Given the description of an element on the screen output the (x, y) to click on. 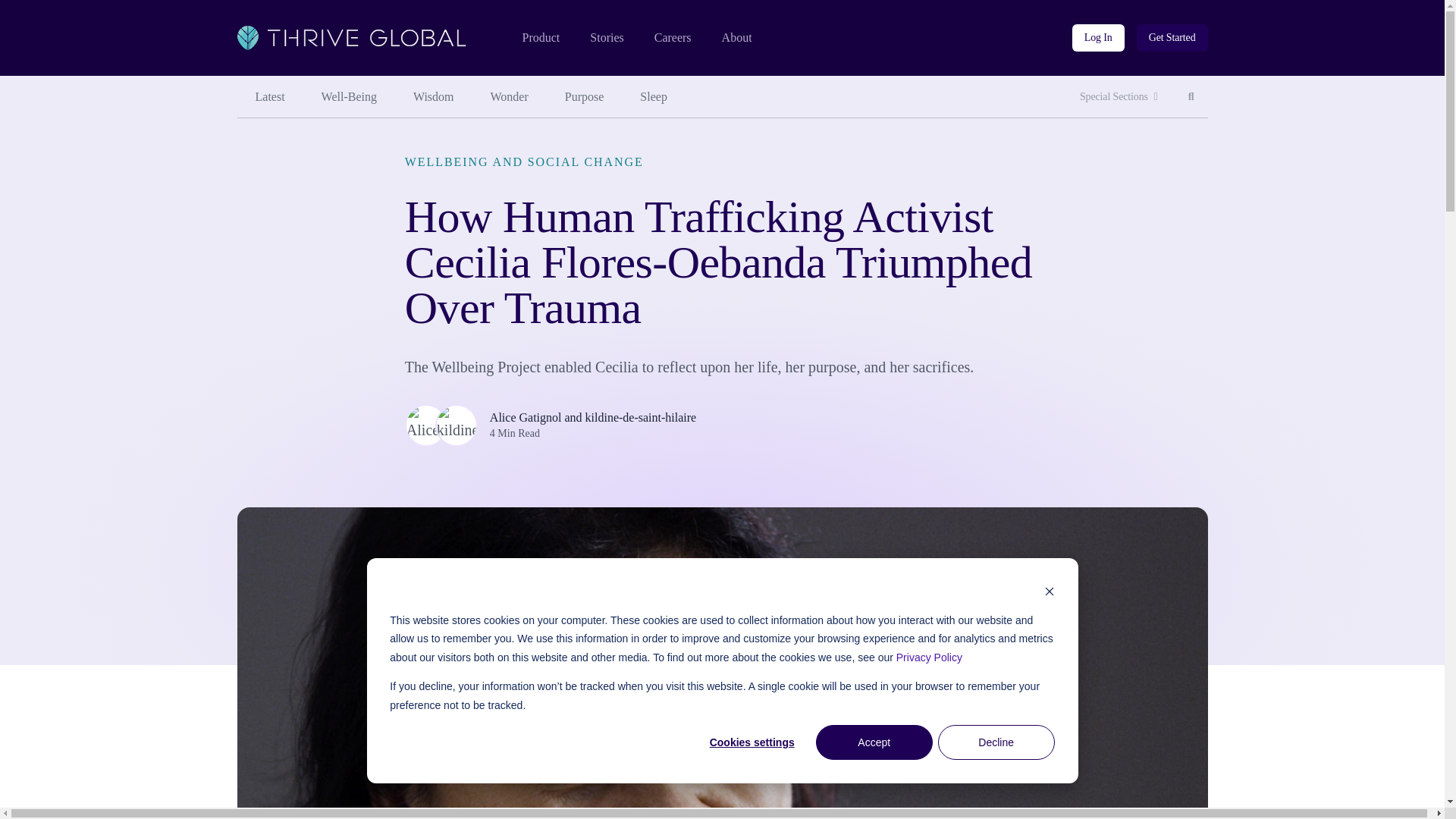
Wisdom (432, 96)
Log In (1097, 37)
Wonder (509, 96)
Get Started (1172, 37)
Careers (672, 37)
Purpose (585, 96)
Special Sections (1118, 97)
Sleep (653, 96)
Well-Being (348, 96)
Stories (606, 37)
Product (540, 37)
About (737, 37)
Latest (268, 96)
